Given the description of an element on the screen output the (x, y) to click on. 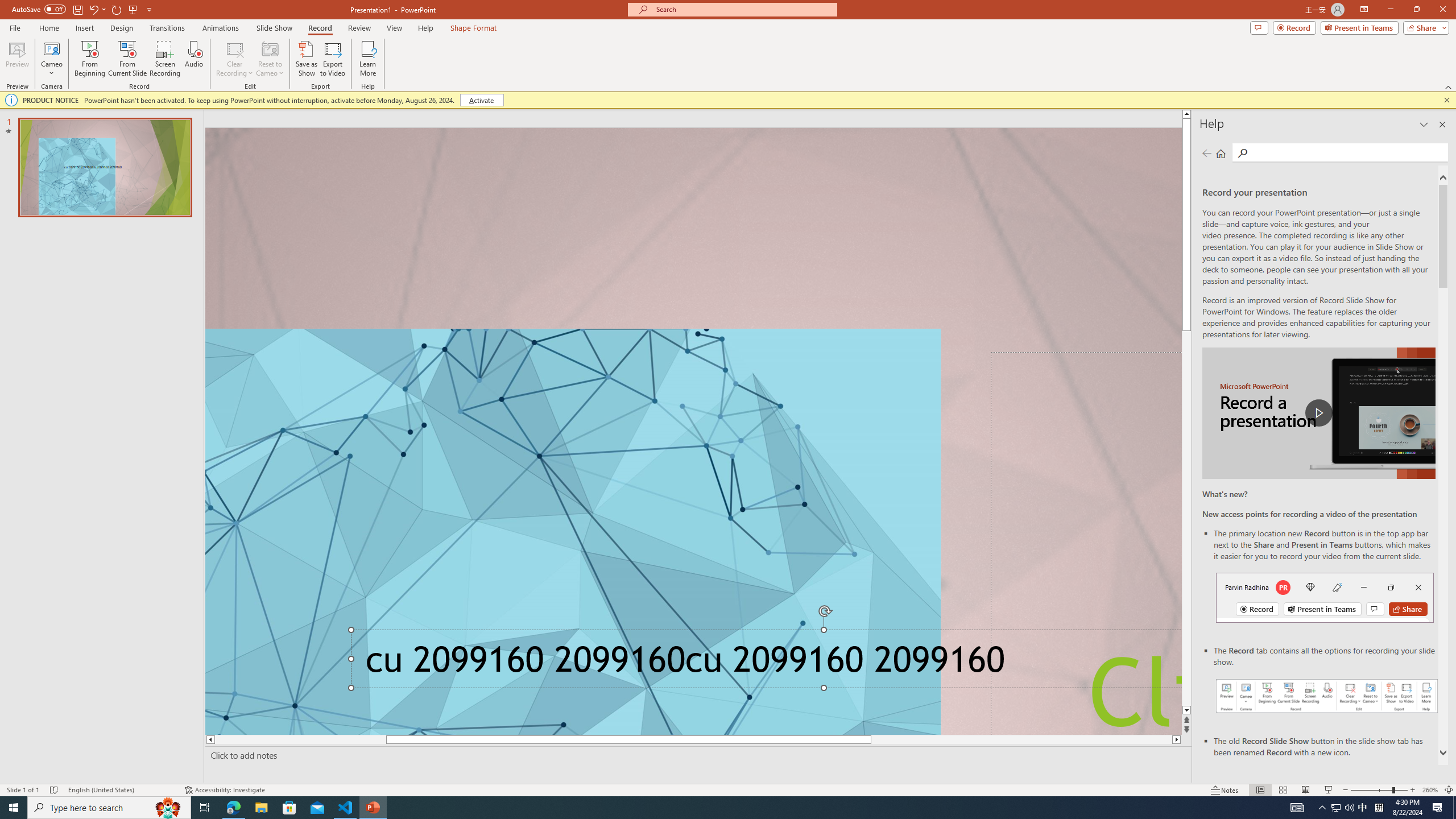
Activate (481, 100)
play Record a Presentation (1318, 412)
